Given the description of an element on the screen output the (x, y) to click on. 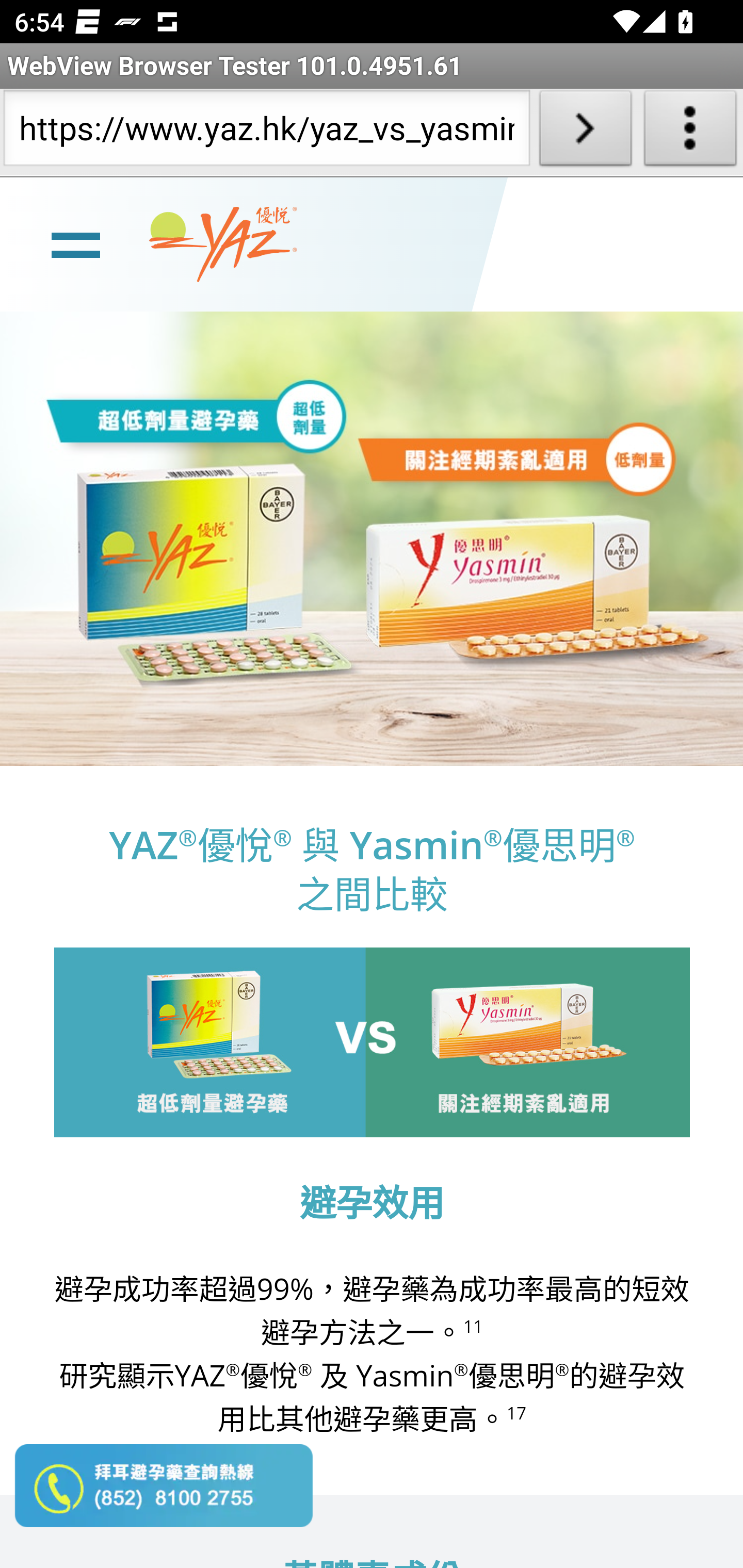
Load URL (585, 132)
About WebView (690, 132)
www.yaz (222, 244)
line Toggle burger menu (75, 242)
